Given the description of an element on the screen output the (x, y) to click on. 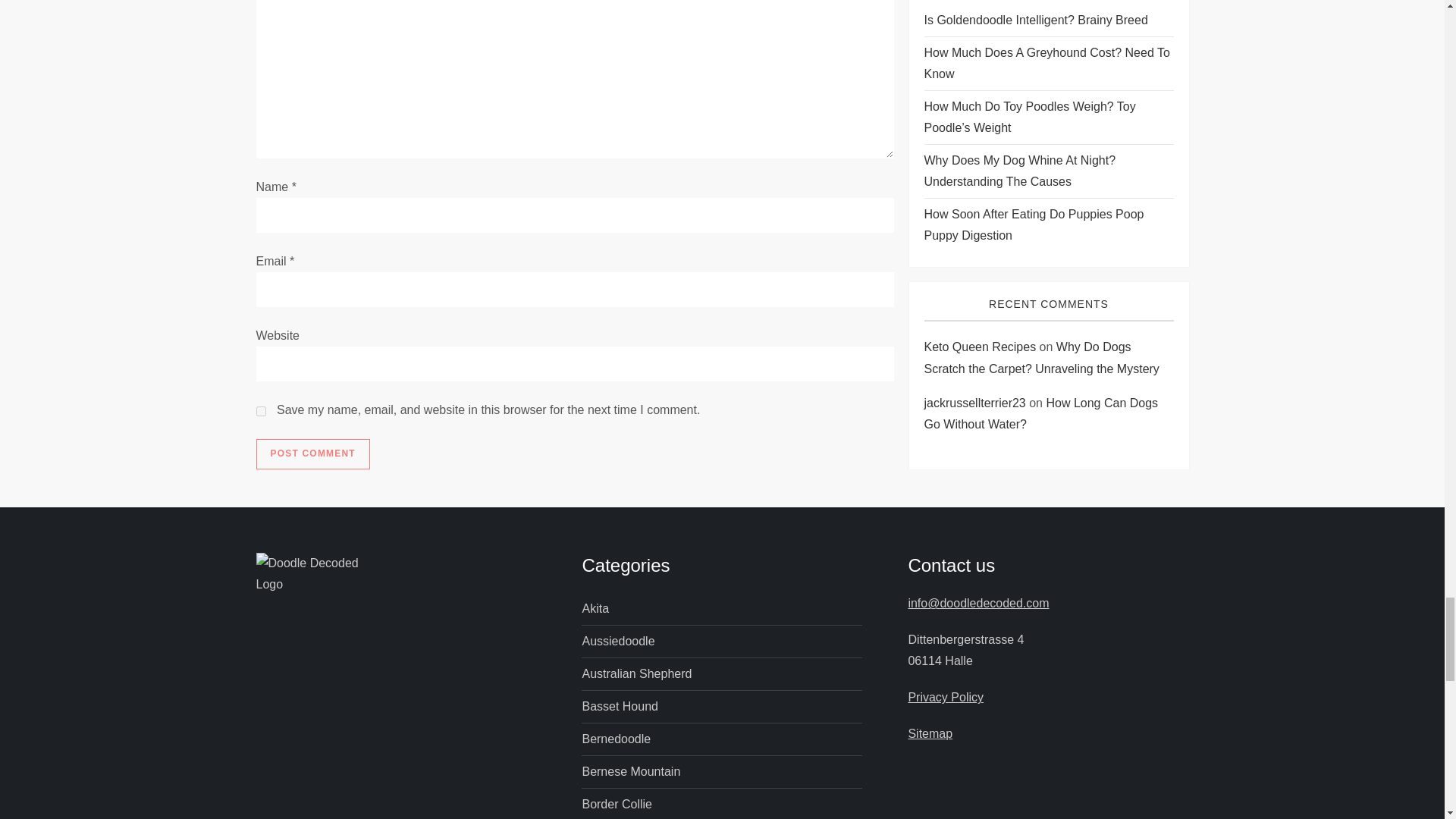
Post Comment (312, 453)
Post Comment (312, 453)
yes (261, 411)
